Given the description of an element on the screen output the (x, y) to click on. 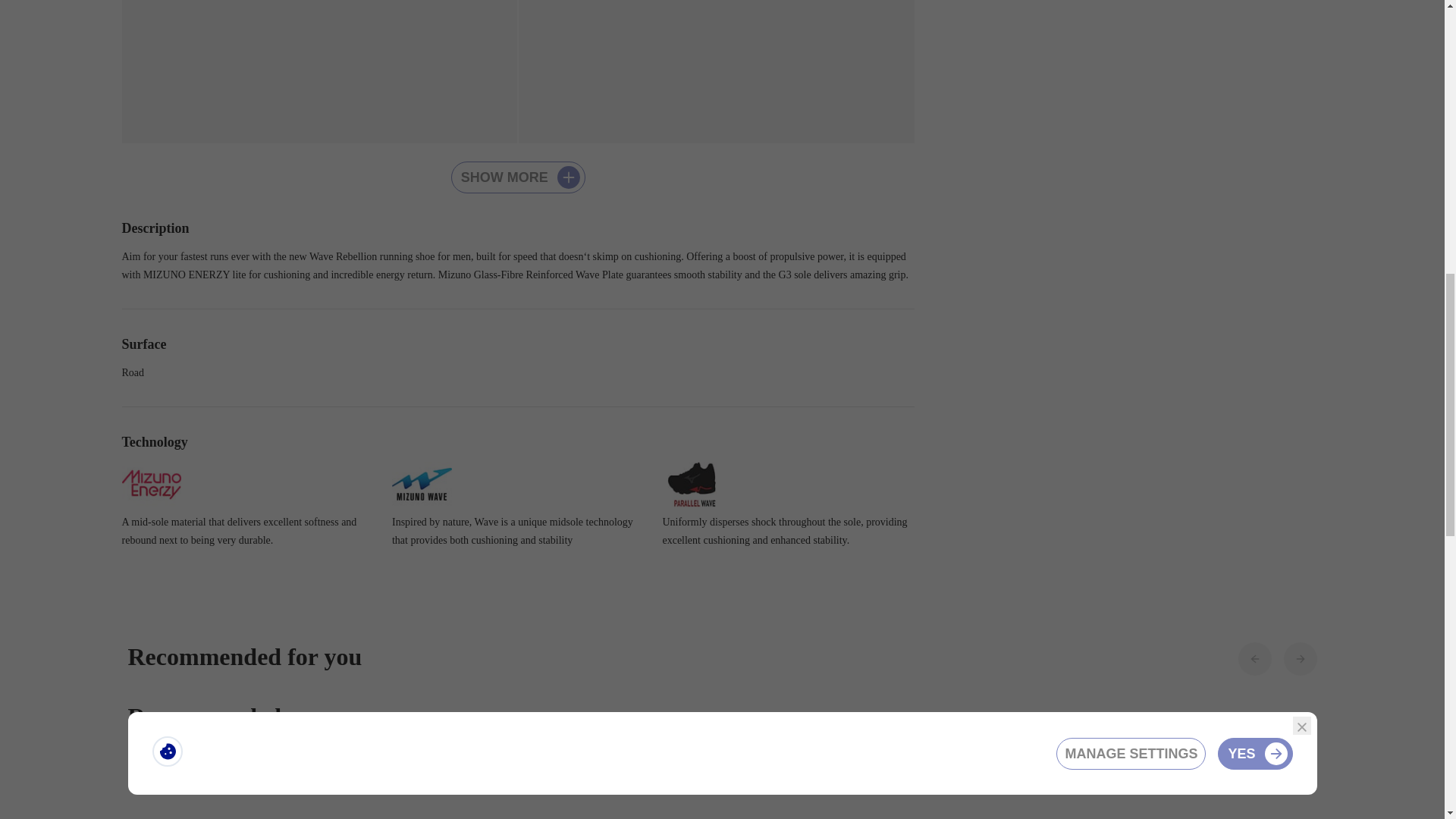
MIZUNO ENERZY (150, 483)
Mizuno Wave (421, 483)
Parallel Wave (692, 483)
